Given the description of an element on the screen output the (x, y) to click on. 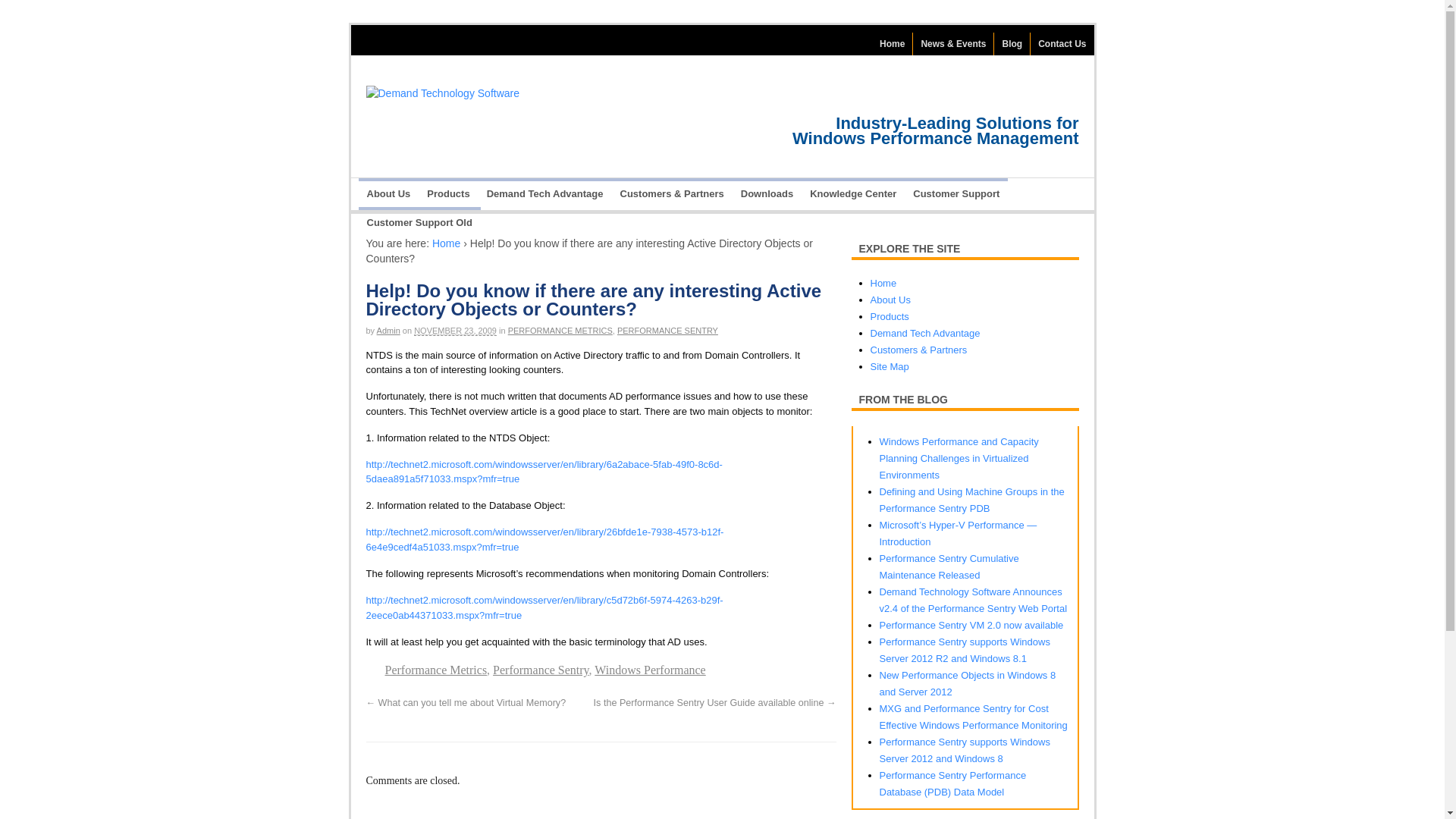
Blog (1011, 43)
Admin (388, 329)
Demand Tech Advantage (545, 193)
PERFORMANCE SENTRY (667, 329)
Demand Tech Advantage (545, 193)
Products (448, 193)
PERFORMANCE METRICS (560, 329)
Home (892, 43)
Performance Metrics (436, 669)
Customer Support (955, 193)
About Us (388, 193)
Blog (1011, 43)
Contact Us (1061, 43)
Home (892, 43)
